Given the description of an element on the screen output the (x, y) to click on. 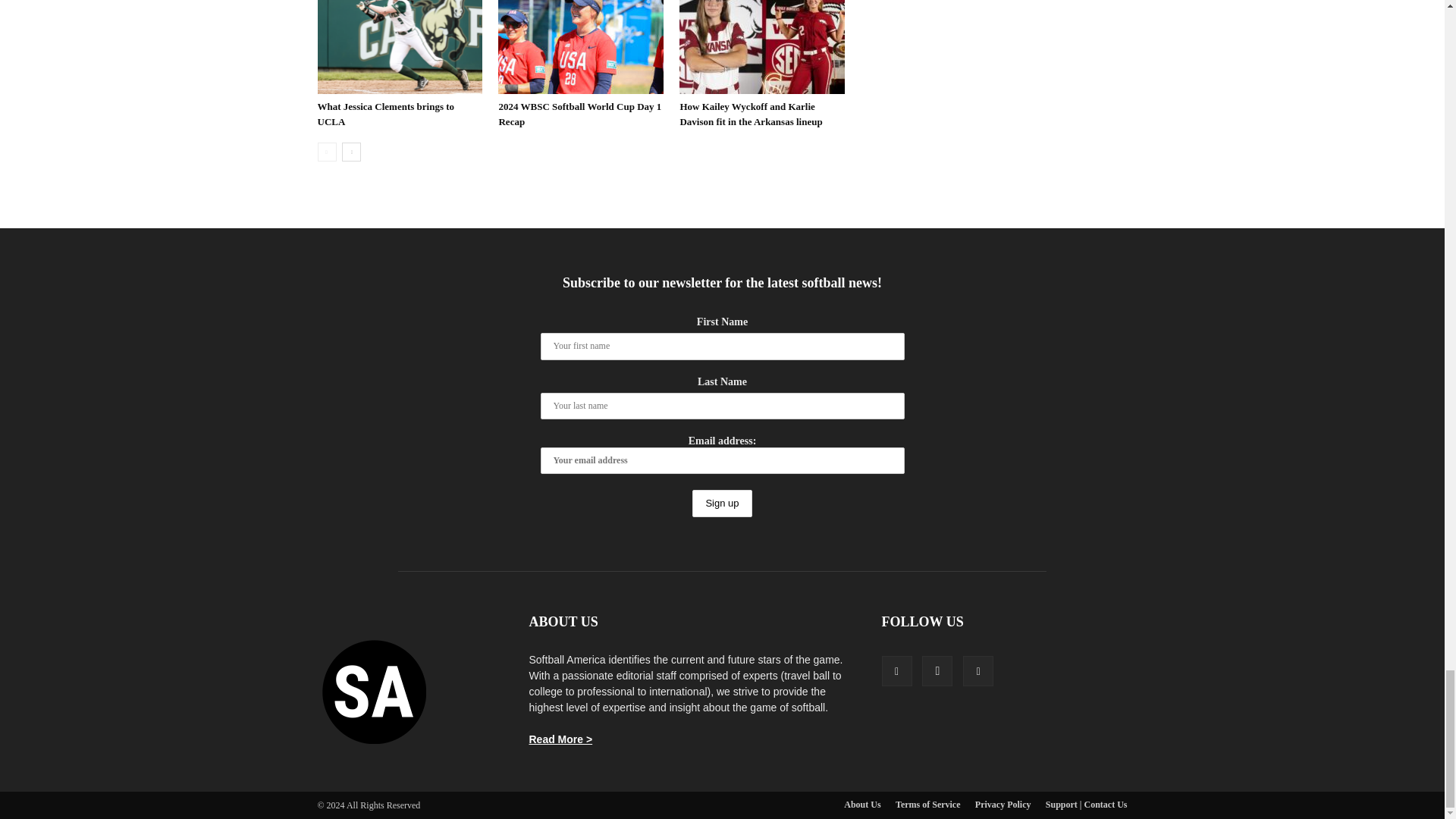
Sign up (722, 503)
